Given the description of an element on the screen output the (x, y) to click on. 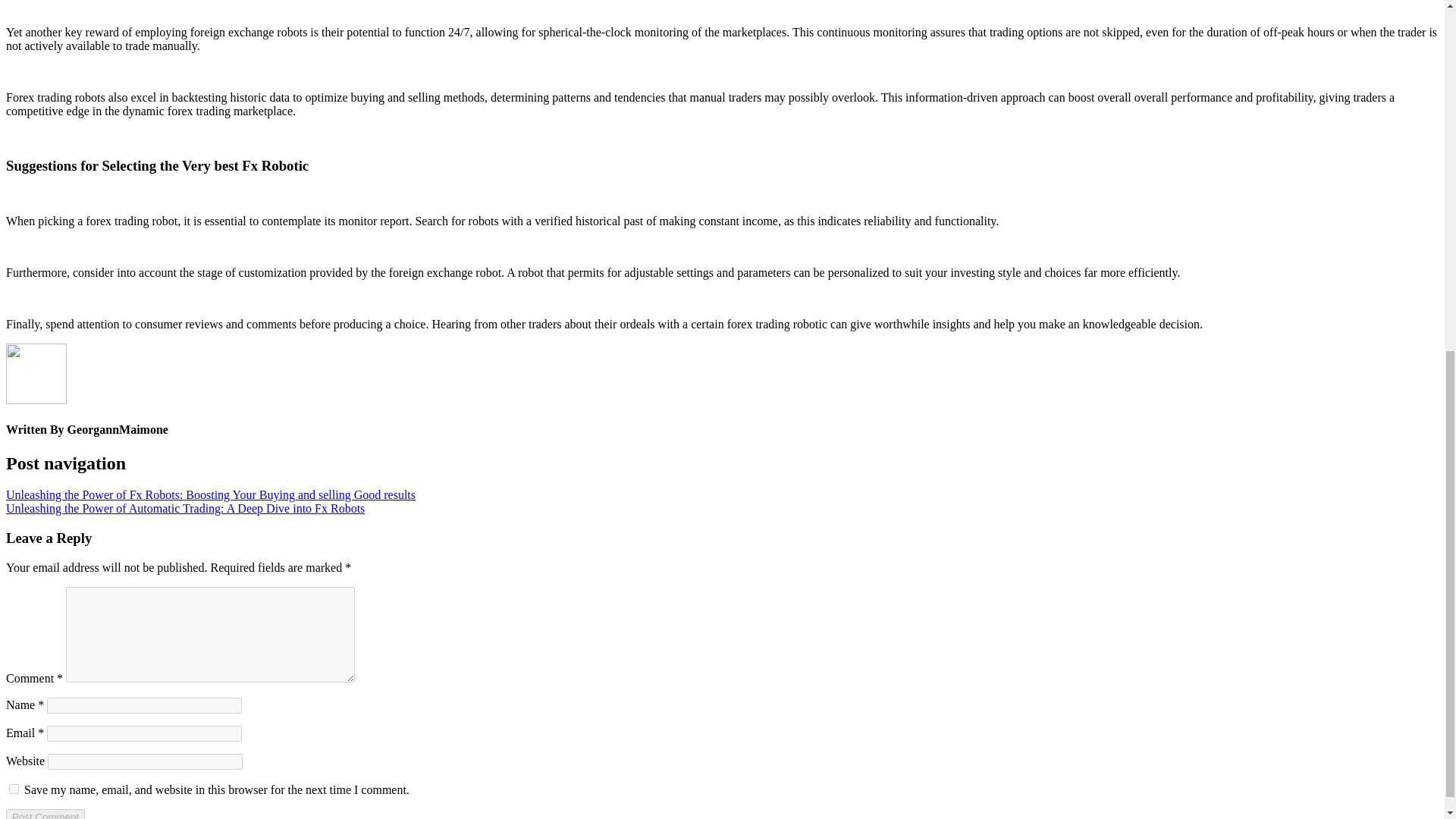
yes (13, 788)
